Given the description of an element on the screen output the (x, y) to click on. 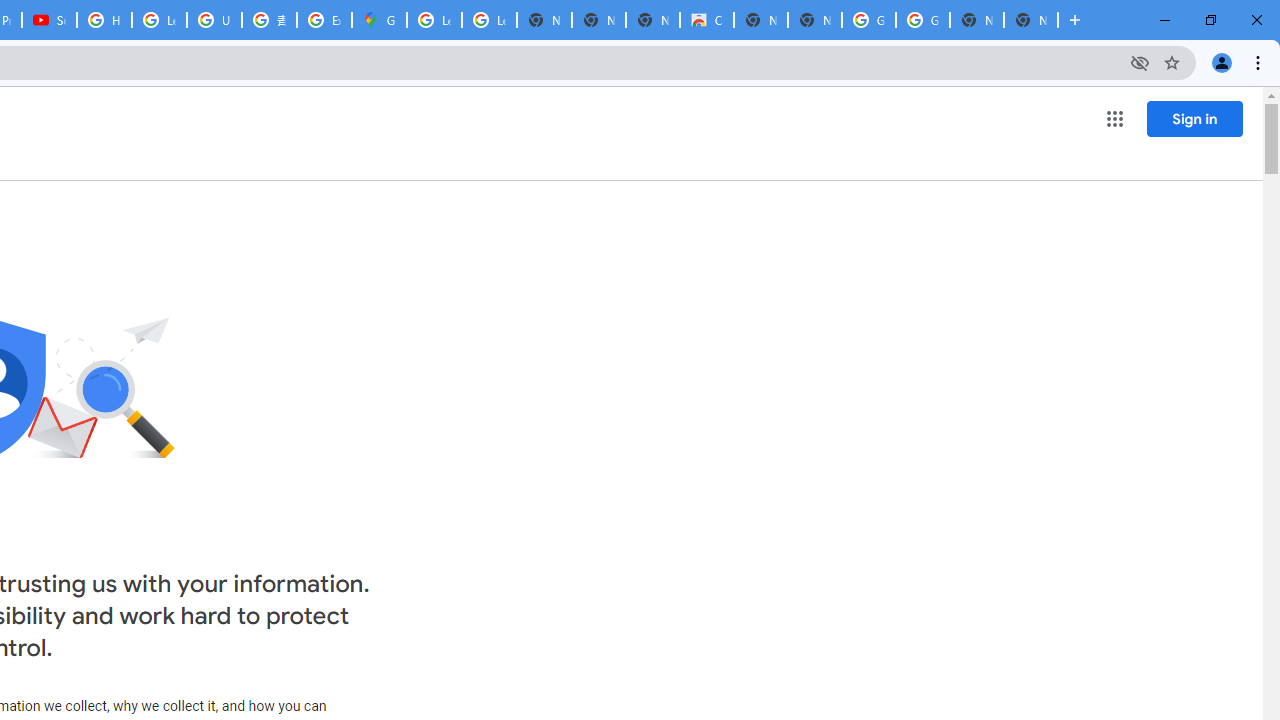
Google Images (922, 20)
Explore new street-level details - Google Maps Help (324, 20)
Chrome Web Store (706, 20)
Google Images (868, 20)
New Tab (1030, 20)
